Given the description of an element on the screen output the (x, y) to click on. 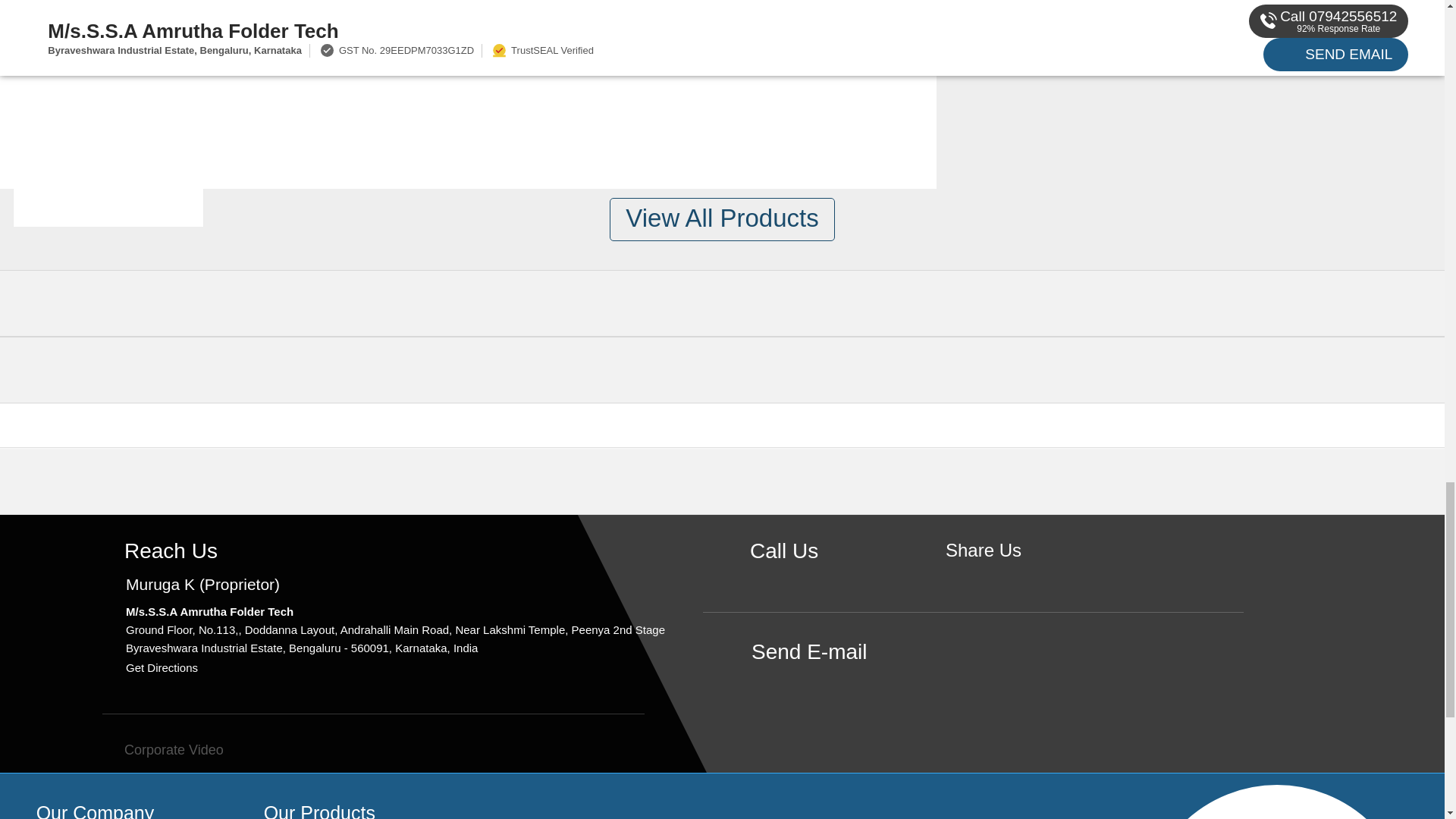
LinkedIn (1029, 576)
Get Directions (161, 667)
Twitter (1006, 576)
View All Products (722, 219)
Carton Folder And Gluer Machine (108, 47)
Facebook (983, 576)
Corporate Video (162, 749)
